Given the description of an element on the screen output the (x, y) to click on. 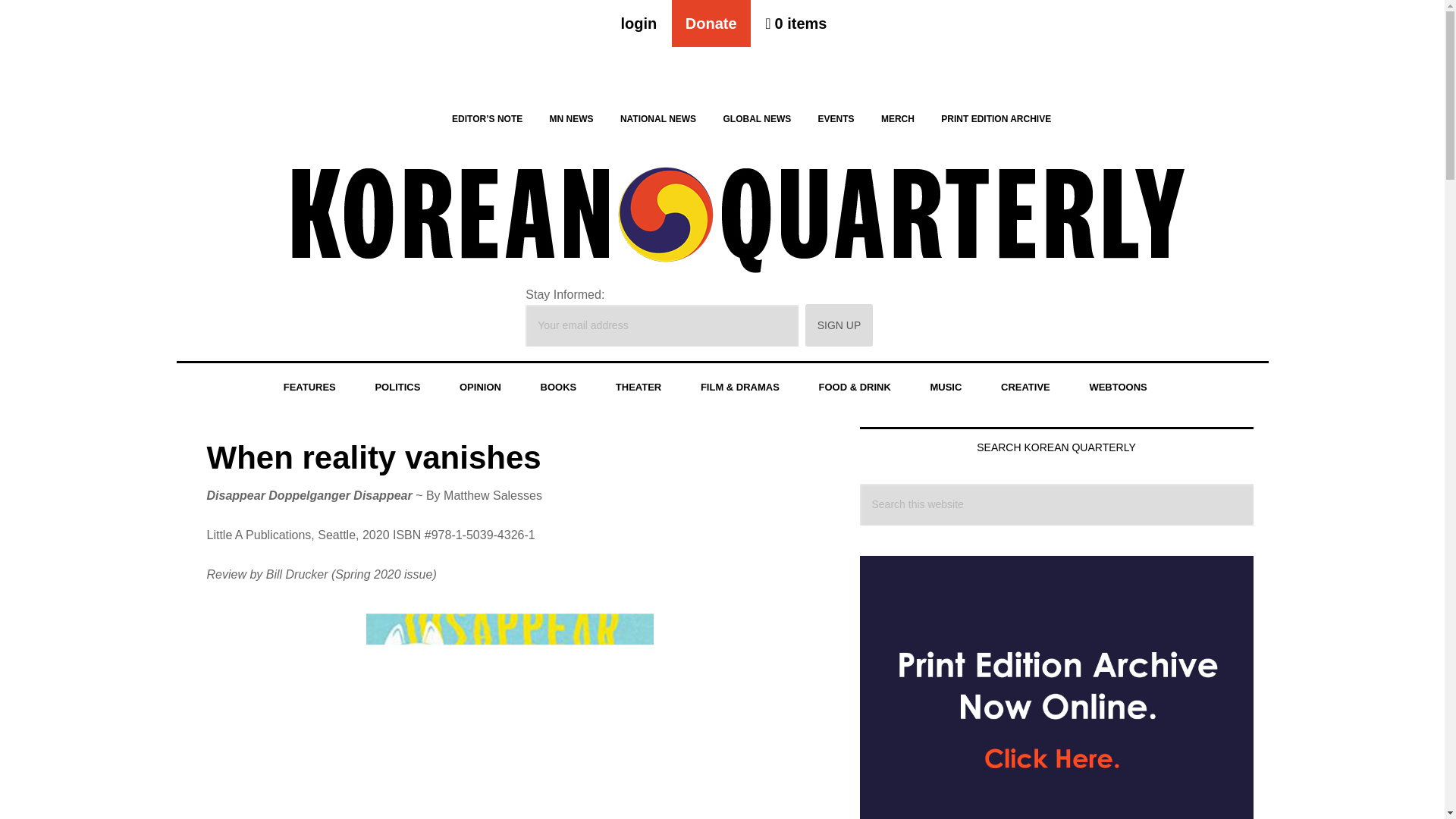
THEATER (638, 387)
WEBTOONS (1117, 387)
FEATURES (309, 387)
login (639, 23)
When reality vanishes (373, 457)
GLOBAL NEWS (757, 118)
MERCH (897, 118)
EVENTS (836, 118)
Sign up (839, 324)
PRINT EDITION ARCHIVE (995, 118)
